Given the description of an element on the screen output the (x, y) to click on. 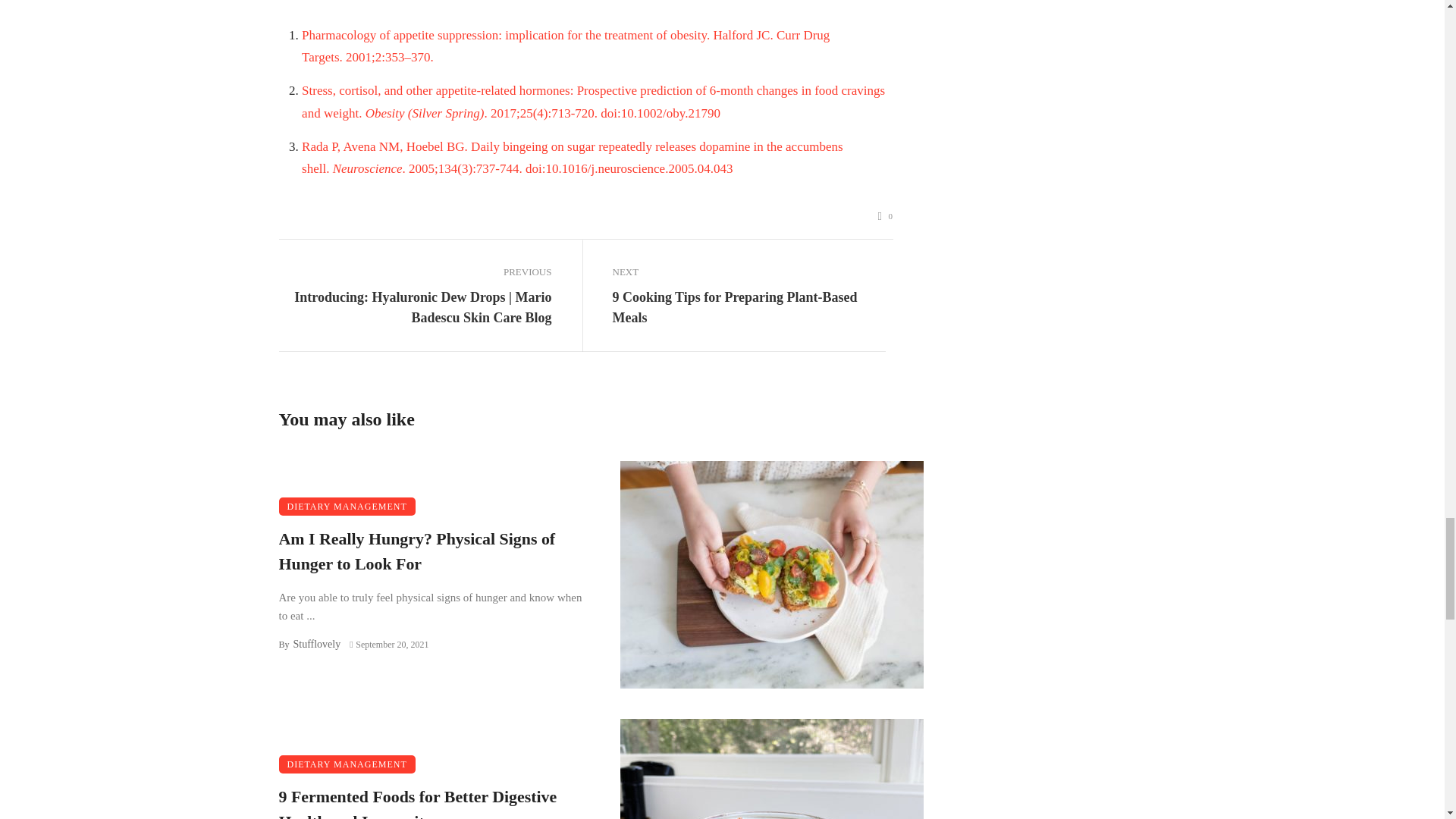
Am I Really Hungry? Physical Signs of Hunger to Look For (434, 552)
Stufflovely (316, 644)
9 Cooking Tips for Preparing Plant-Based Meals (748, 307)
0 Comments (885, 216)
NEXT (748, 271)
0 (885, 216)
DIETARY MANAGEMENT (346, 764)
9 Fermented Foods for Better Digestive Health and Immunity (434, 801)
PREVIOUS (415, 271)
DIETARY MANAGEMENT (346, 506)
September 20, 2021 at 2:47 pm (388, 644)
